Given the description of an element on the screen output the (x, y) to click on. 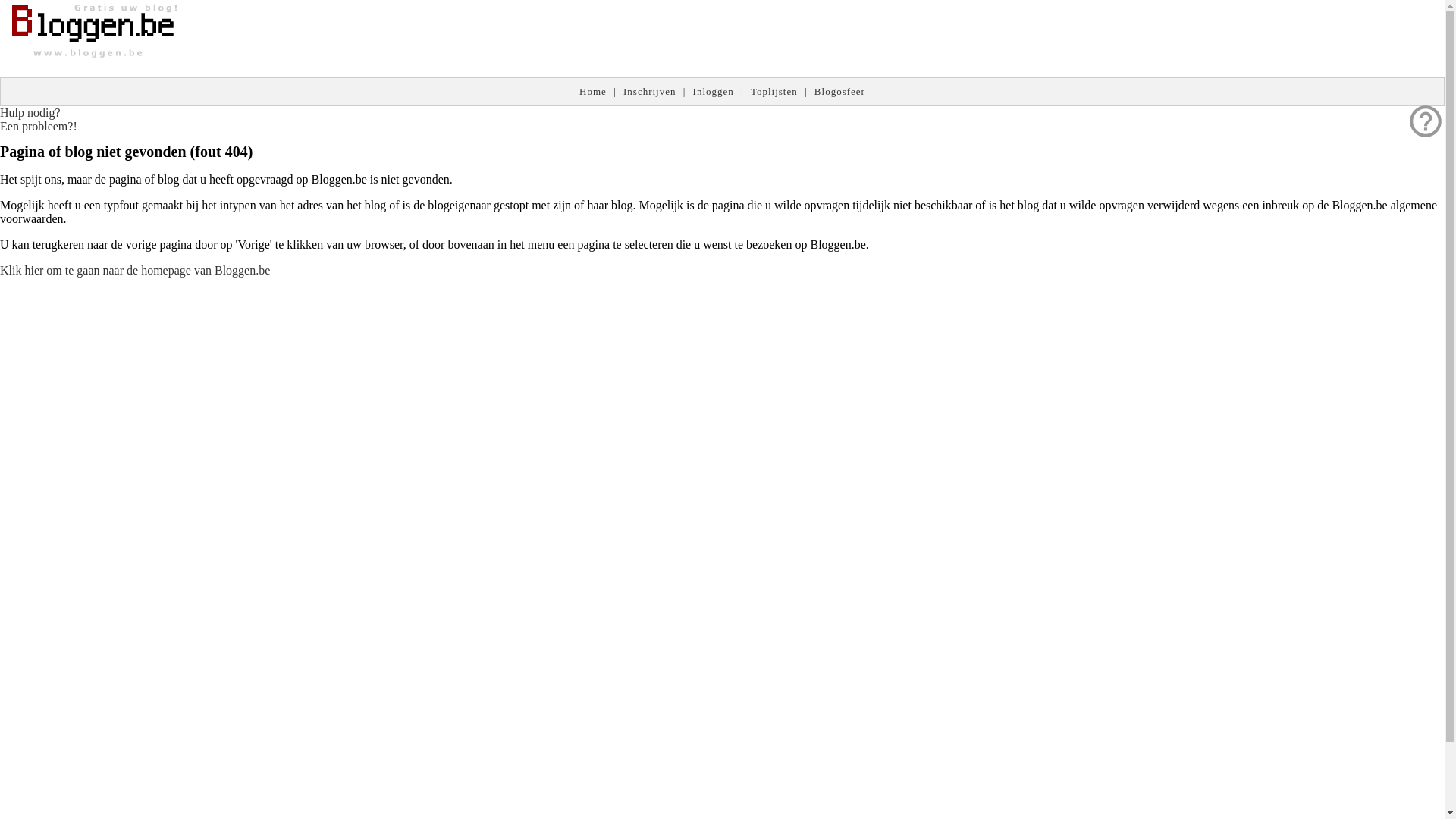
Inschrijven Element type: text (649, 91)
Blogosfeer Element type: text (839, 91)
Inloggen Element type: text (713, 91)
Klik hier om te gaan naar de homepage van Bloggen.be Element type: text (134, 269)
Home Element type: text (592, 91)
help_outline
Hulp nodig?
Een probleem?! Element type: text (38, 119)
Toplijsten Element type: text (773, 91)
